Given the description of an element on the screen output the (x, y) to click on. 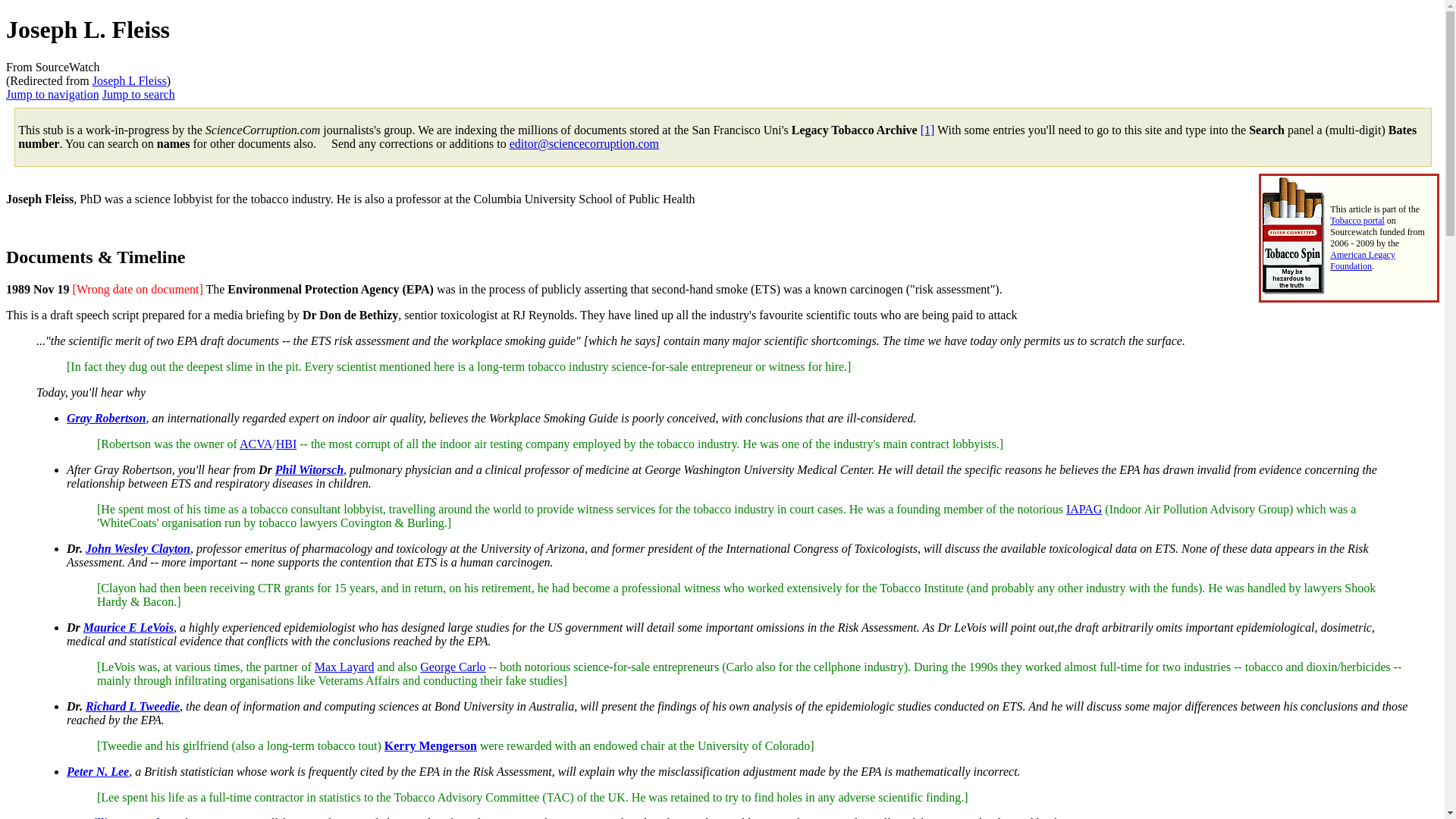
Richard L Tweedie (132, 706)
Portal:Tobacco (1293, 290)
ACVA (256, 443)
Joseph L Fleiss (130, 80)
John Wesley Clayton (137, 548)
Kerry Mengerson (430, 745)
Philip Witorsch (309, 469)
Jump to navigation (52, 93)
Richard L Tweedie (132, 706)
George Carlo (452, 666)
Joseph L Fleiss (130, 80)
HBI (286, 443)
Portal:Tobacco (1357, 220)
American Legacy Foundation (1362, 260)
Kerry Mengerson (430, 745)
